Given the description of an element on the screen output the (x, y) to click on. 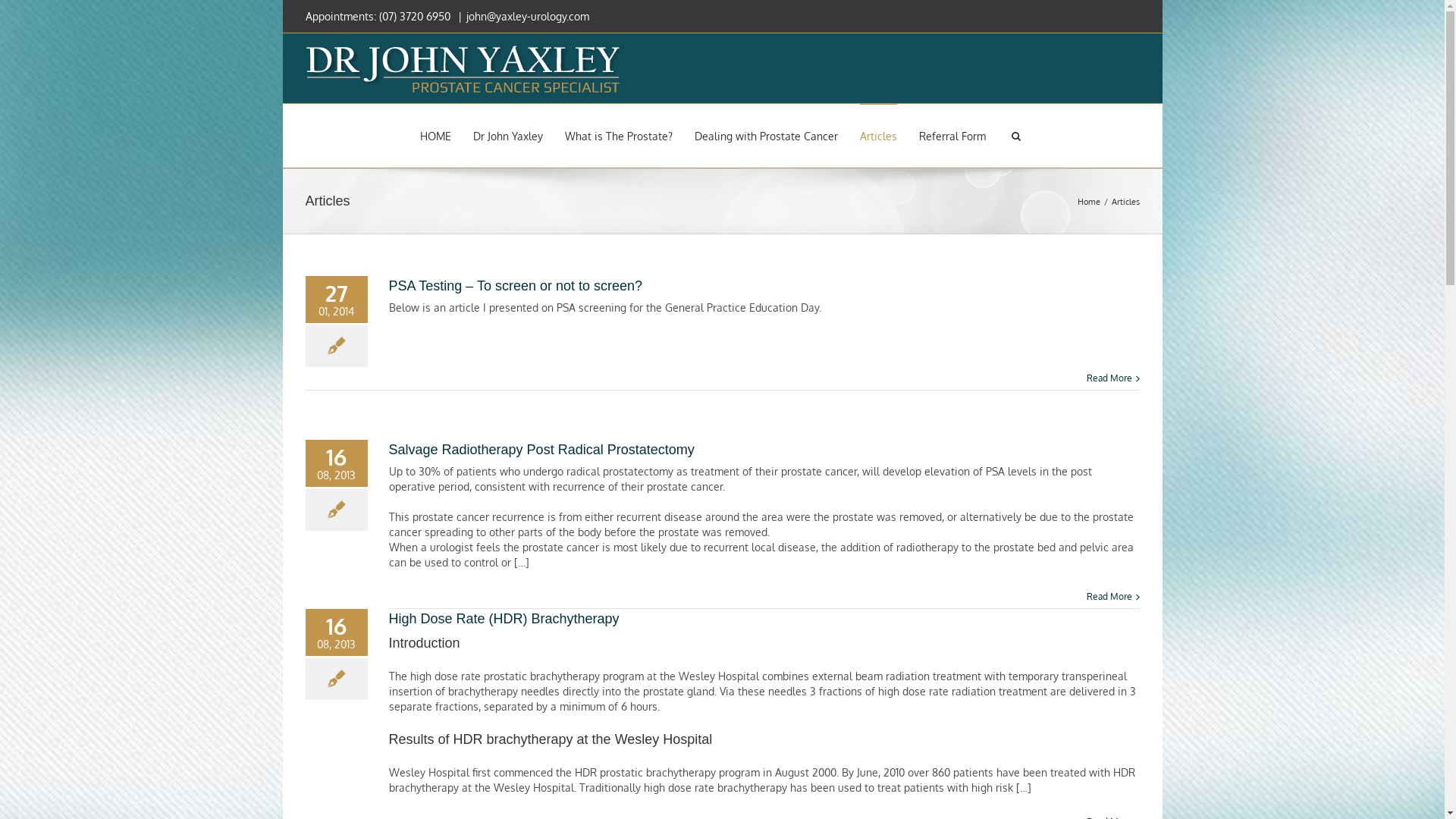
Salvage Radiotherapy Post Radical Prostatectomy Element type: text (540, 449)
Dealing with Prostate Cancer Element type: text (765, 134)
john@yaxley-urology.com Element type: text (526, 15)
HOME Element type: text (435, 134)
High Dose Rate (HDR) Brachytherapy Element type: text (503, 618)
Dr John Yaxley Element type: text (507, 134)
Read More Element type: text (1108, 377)
Read More Element type: text (1108, 596)
What is The Prostate? Element type: text (618, 134)
Articles Element type: text (878, 134)
Home Element type: text (1089, 200)
Referral Form Element type: text (952, 134)
